Given the description of an element on the screen output the (x, y) to click on. 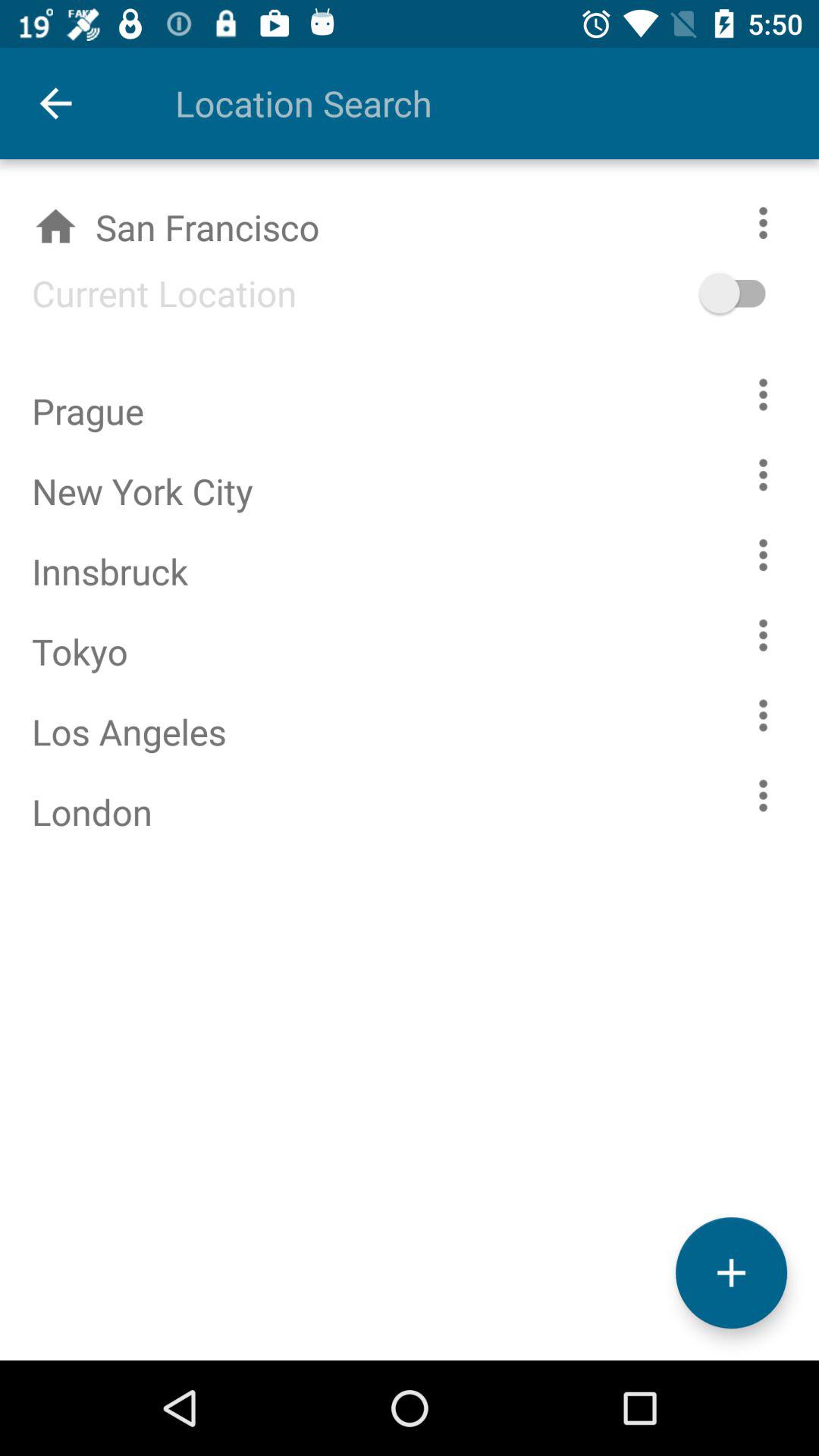
toggle more options for the selected city (779, 222)
